Given the description of an element on the screen output the (x, y) to click on. 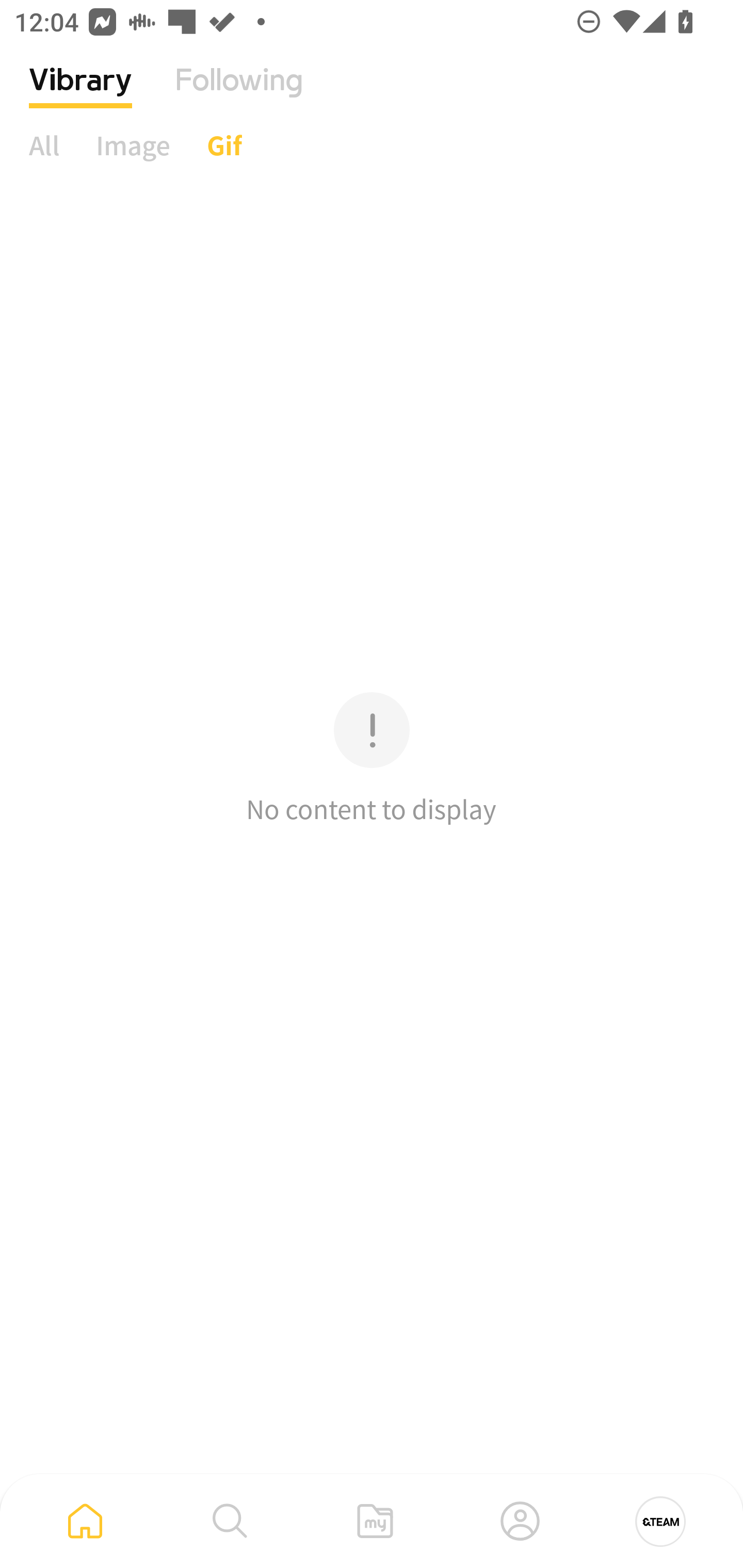
Vibrary (80, 95)
Following (239, 95)
All (44, 145)
Image (132, 145)
Gif (224, 145)
